Given the description of an element on the screen output the (x, y) to click on. 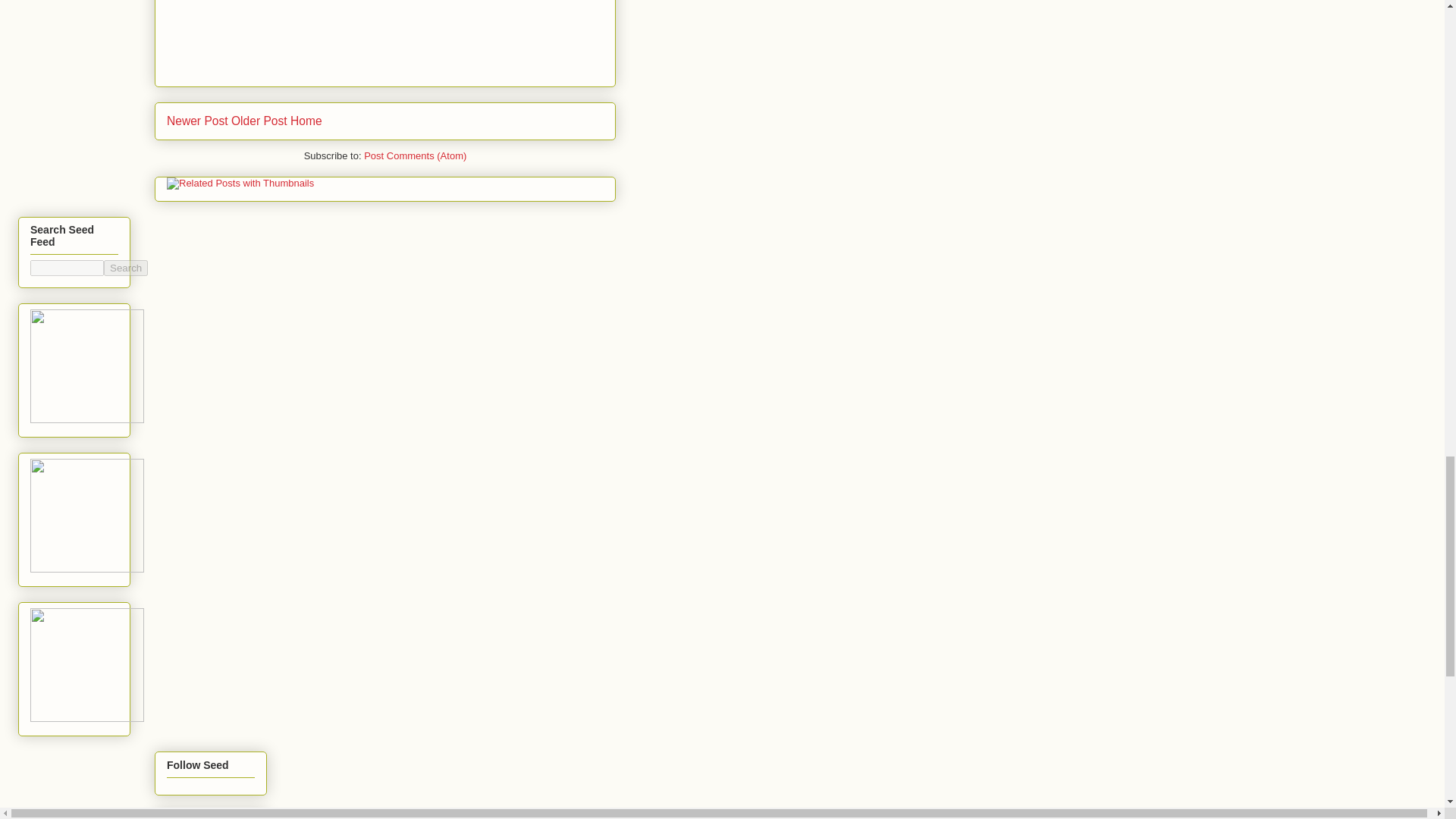
Newer Post (197, 120)
search (66, 268)
search (125, 268)
Search (125, 268)
Older Post (258, 120)
Home (305, 120)
Newer Post (197, 120)
Search (125, 268)
Search (125, 268)
Older Post (258, 120)
